Given the description of an element on the screen output the (x, y) to click on. 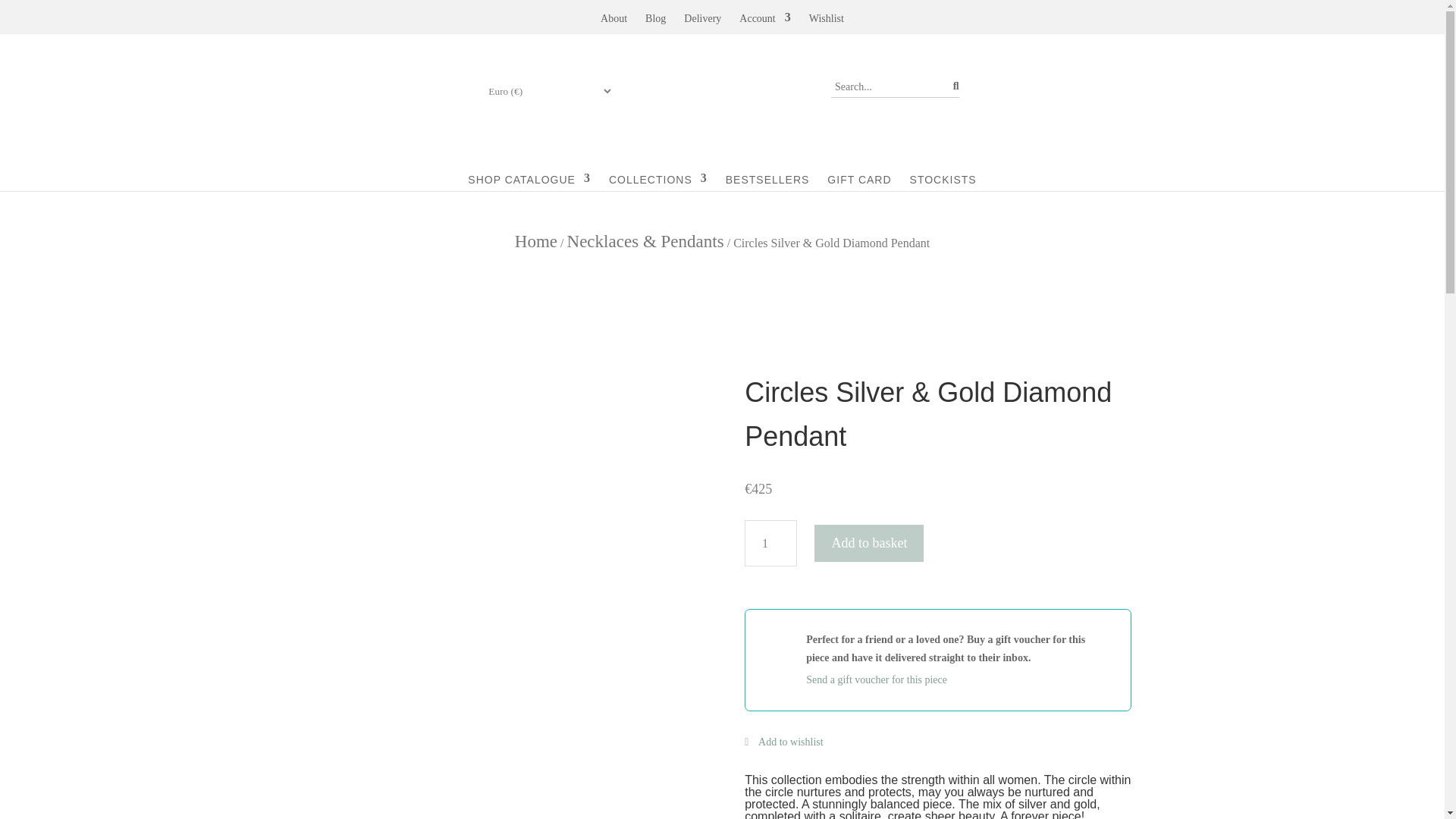
Wishlist (826, 21)
COLLECTIONS (657, 171)
STOCKISTS (943, 171)
Delivery (702, 21)
Add to basket (868, 542)
About (613, 21)
SHOP CATALOGUE (529, 171)
Home (536, 240)
Blog (655, 21)
Add to wishlist (783, 741)
